Given the description of an element on the screen output the (x, y) to click on. 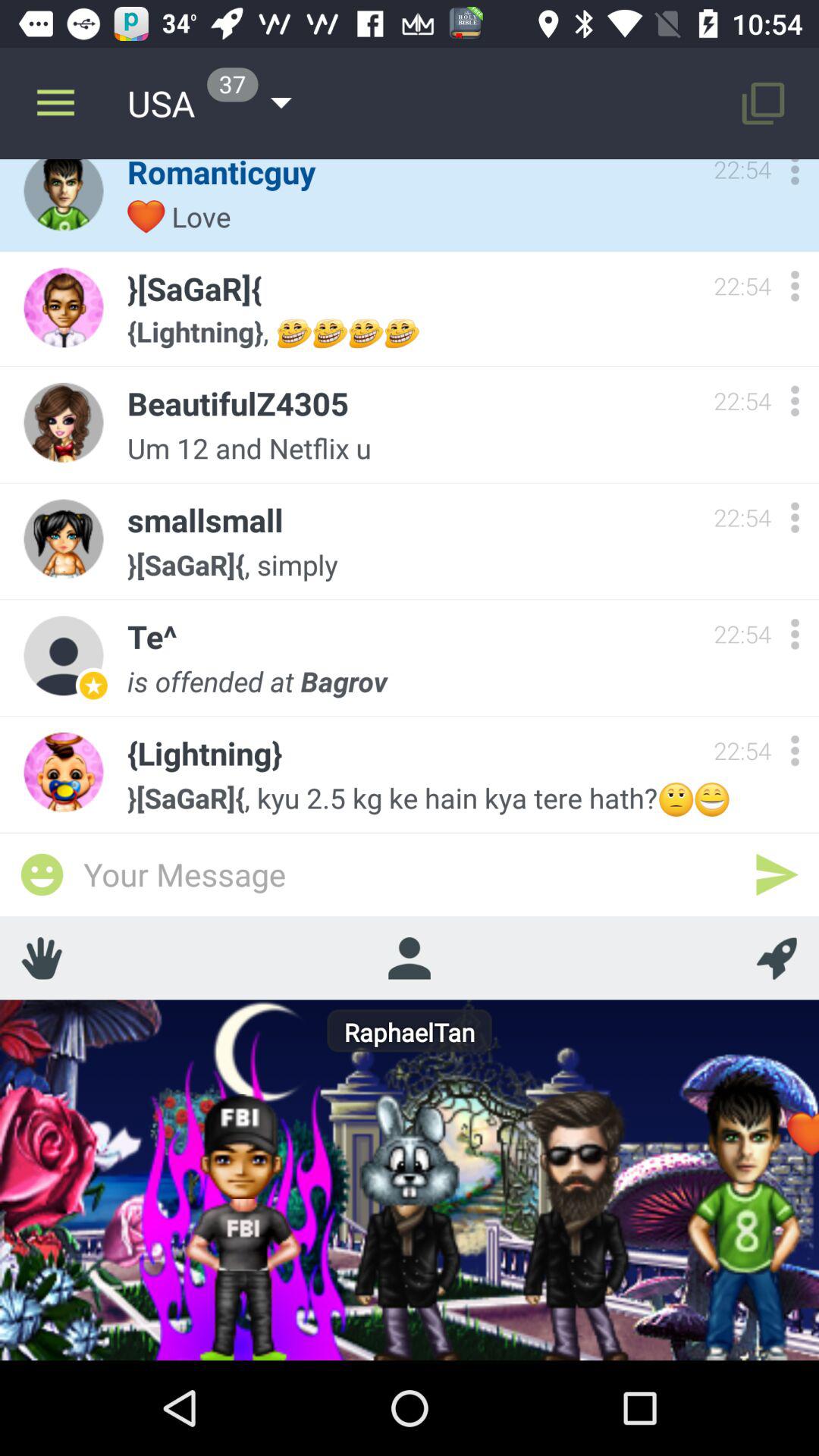
options (795, 176)
